Given the description of an element on the screen output the (x, y) to click on. 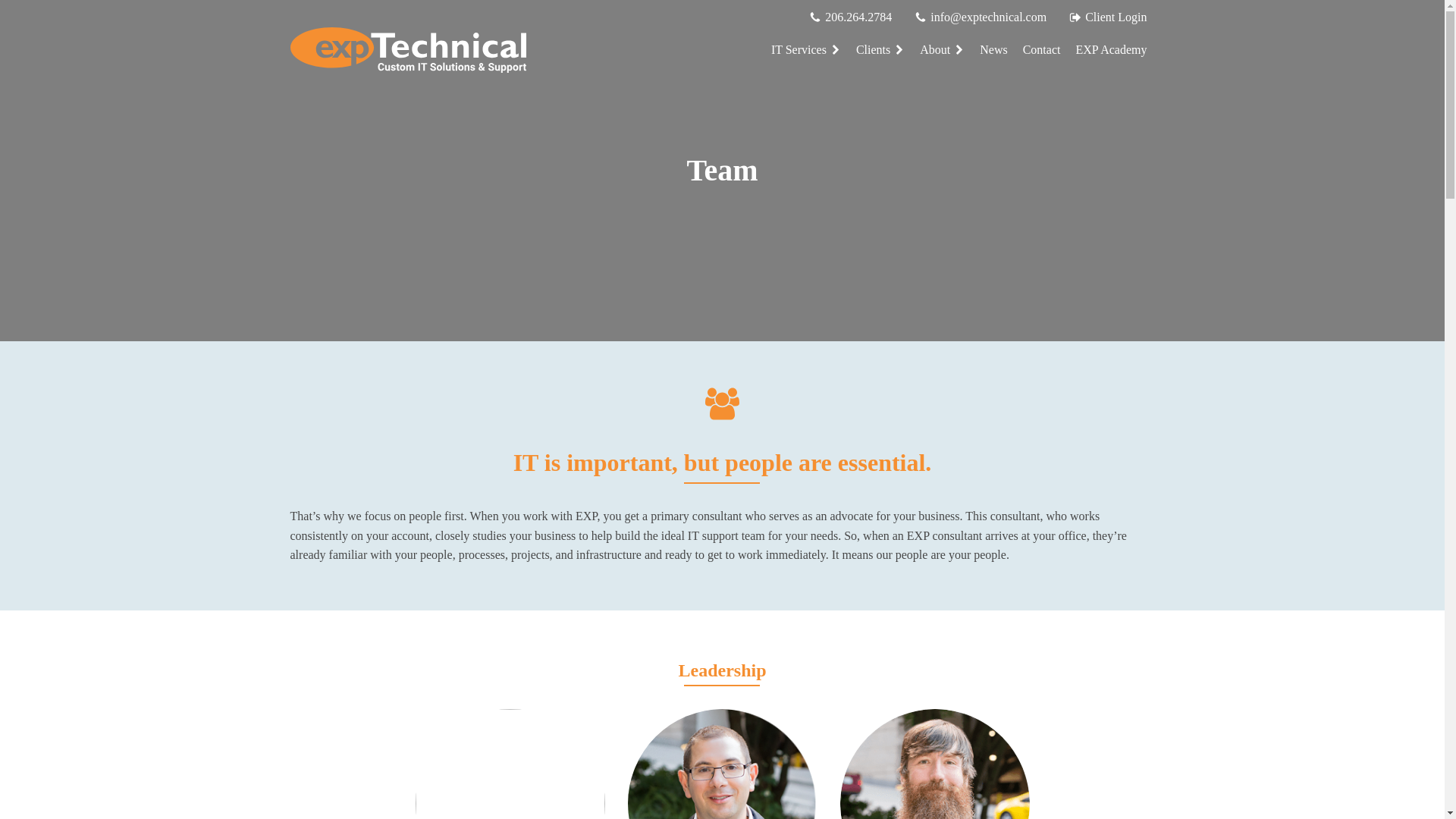
EXP Academy (1110, 49)
206.264.2784 (858, 17)
Clients (880, 49)
Contact (1041, 49)
News (993, 49)
Client Login (1115, 17)
IT Services (805, 49)
About (942, 49)
